Given the description of an element on the screen output the (x, y) to click on. 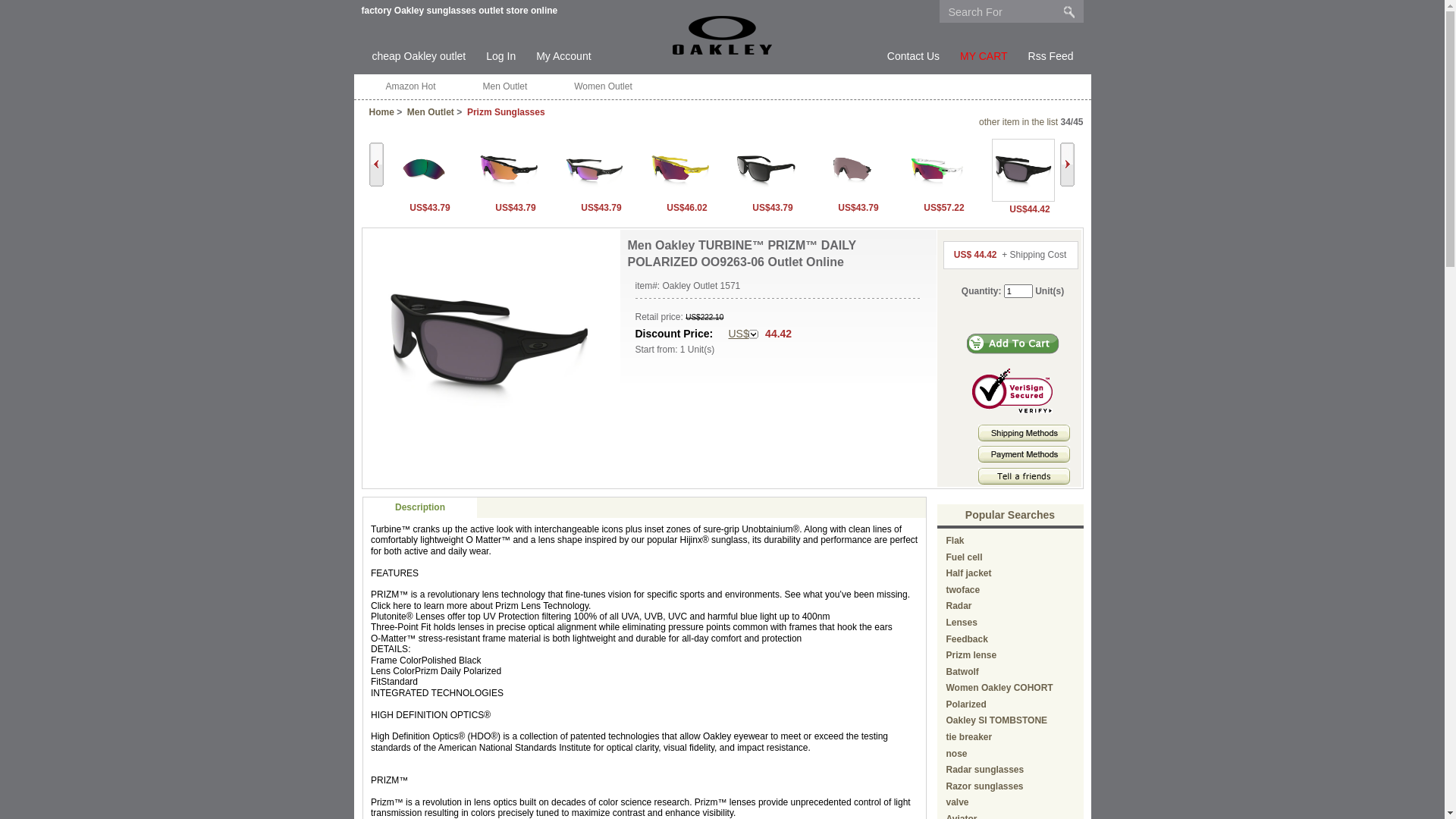
 Payment Methods  Element type: hover (1024, 453)
Fuel cell Element type: text (964, 557)
Payment methods Element type: hover (1024, 459)
Radar Element type: text (959, 605)
US$ Element type: text (742, 334)
Back Element type: hover (375, 164)
Next Element type: hover (1067, 164)
cheap Oakley outlet Element type: text (418, 56)
Men Outlet Element type: text (505, 86)
Amazon Hot Element type: text (410, 86)
Prizm Sunglasses Element type: text (506, 111)
Home Element type: text (380, 111)
nose Element type: text (956, 753)
Men Outlet Element type: text (430, 111)
tie breaker Element type: text (969, 736)
Women Oakley COHORT Element type: text (999, 687)
Shipping Methods Element type: hover (1024, 438)
Oakley SI TOMBSTONE Element type: text (997, 720)
Add to Cart Element type: hover (1012, 343)
Razor sunglasses Element type: text (984, 786)
Batwolf Element type: text (962, 671)
My Account Element type: text (563, 56)
Lenses Element type: text (961, 622)
Women Outlet Element type: text (602, 86)
twoface Element type: text (963, 589)
Flak Element type: text (955, 540)
 Shipping Methods  Element type: hover (1024, 432)
Half jacket Element type: text (968, 572)
Radar sunglasses Element type: text (985, 769)
other item in the list Element type: text (1018, 121)
Rss Feed Element type: text (1050, 56)
MY CART Element type: text (983, 56)
Polarized Element type: text (966, 704)
Prizm lense Element type: text (971, 654)
GO Element type: text (1068, 10)
Popular Searches Element type: text (1009, 514)
Contact Us Element type: text (913, 56)
Log In Element type: text (500, 56)
valve Element type: text (957, 802)
Feedback Element type: text (967, 638)
 Oakley outlet  Element type: hover (721, 34)
 Tell A Friends  Element type: hover (1024, 475)
